Given the description of an element on the screen output the (x, y) to click on. 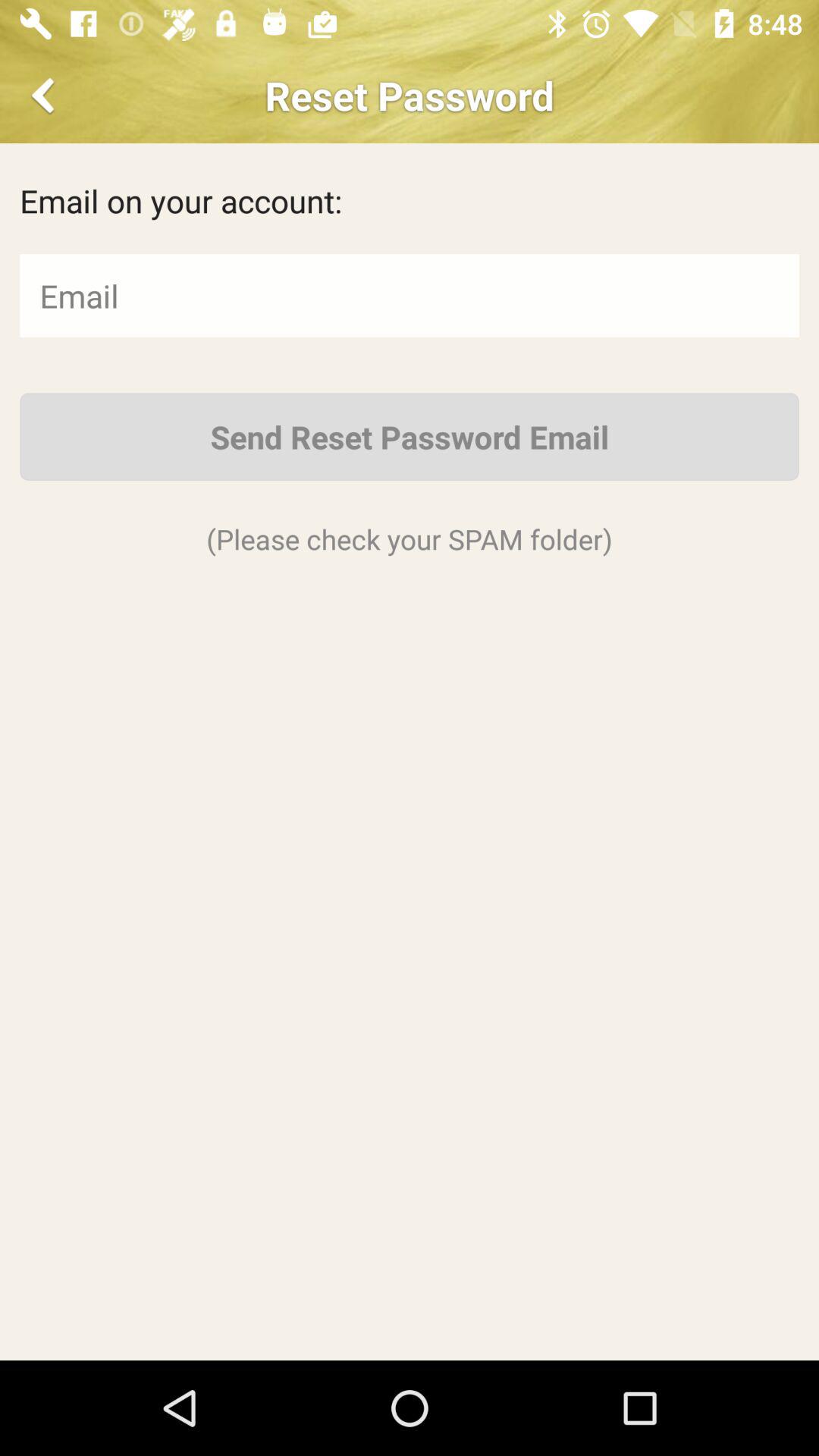
input your email address (409, 295)
